Given the description of an element on the screen output the (x, y) to click on. 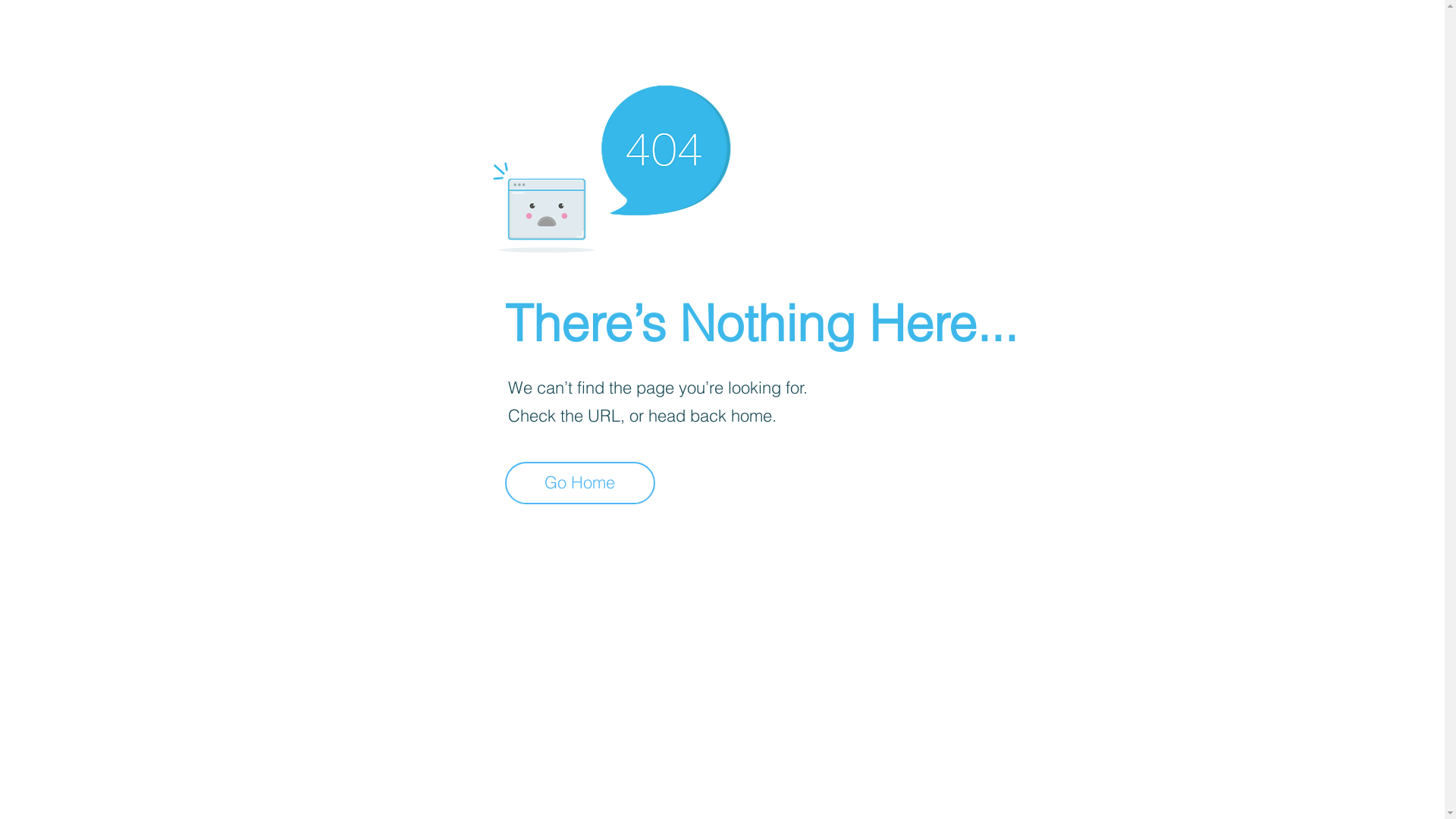
404-icon_2.png Element type: hover (610, 164)
Go Home Element type: text (580, 482)
